Given the description of an element on the screen output the (x, y) to click on. 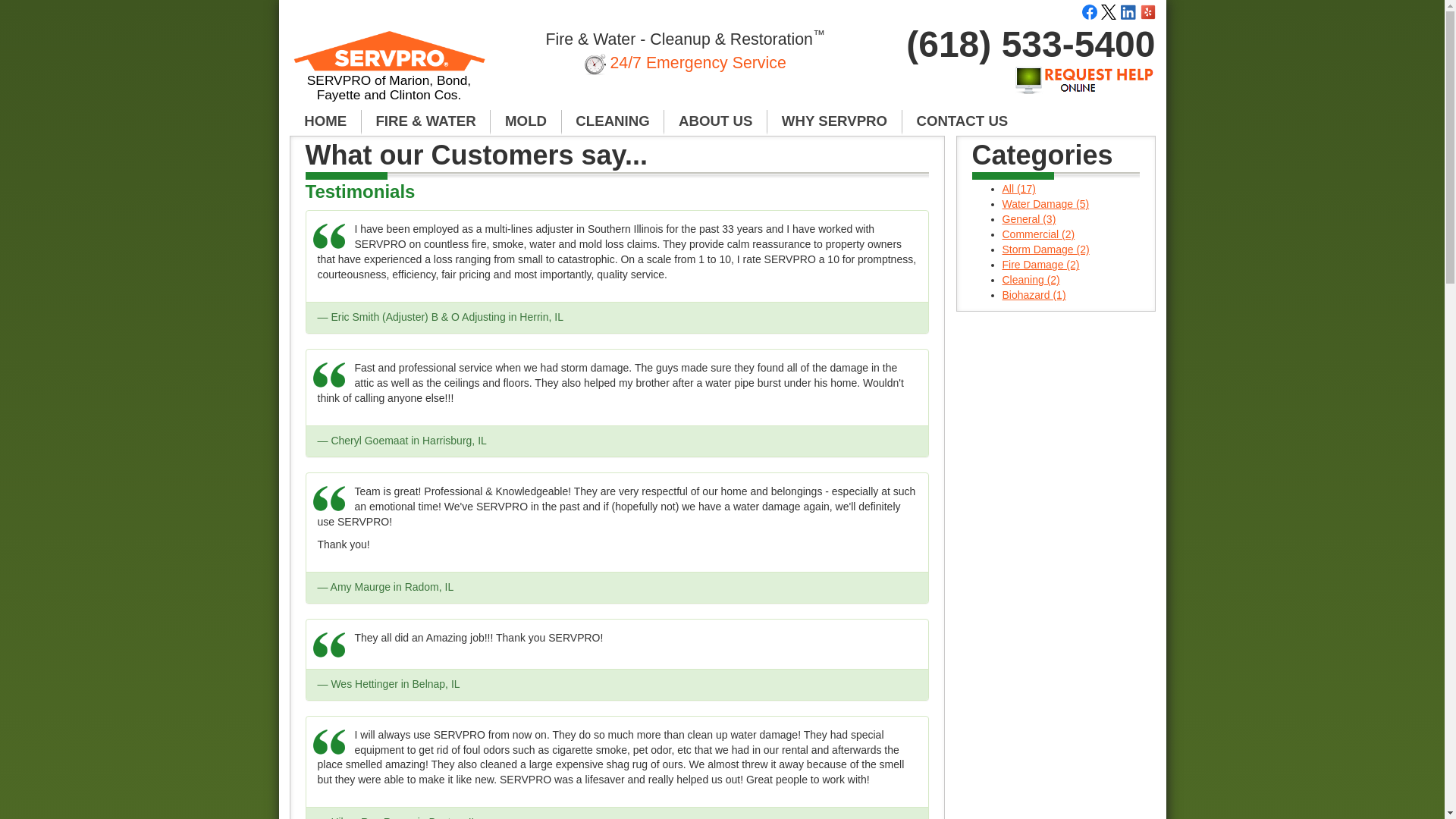
SERVPRO of Marion, Bond, Fayette and Clinton Cos. (389, 72)
HOME (325, 121)
CLEANING (613, 121)
ABOUT US (715, 121)
MOLD (525, 121)
